Given the description of an element on the screen output the (x, y) to click on. 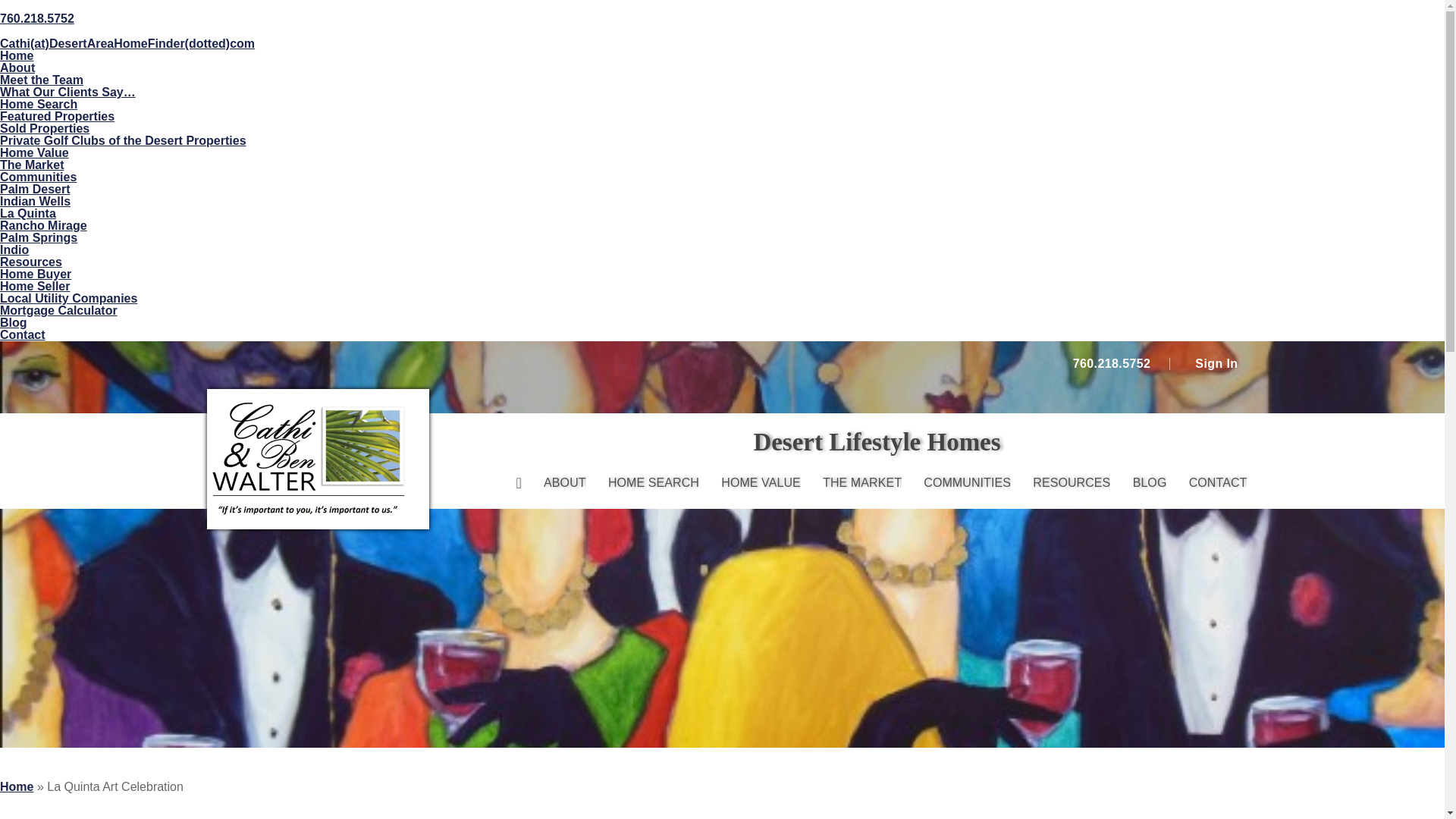
The Market (32, 164)
Indian Wells (34, 201)
Contact (22, 334)
Home Search (38, 103)
Sold Properties (44, 128)
Meet the Team (41, 79)
Home Seller (34, 286)
HOME SEARCH (653, 481)
Resources (31, 261)
Communities (38, 176)
Home (16, 55)
Private Golf Clubs of the Desert Properties (123, 140)
760.218.5752 (1109, 363)
Featured Properties (57, 115)
Indio (14, 249)
